Given the description of an element on the screen output the (x, y) to click on. 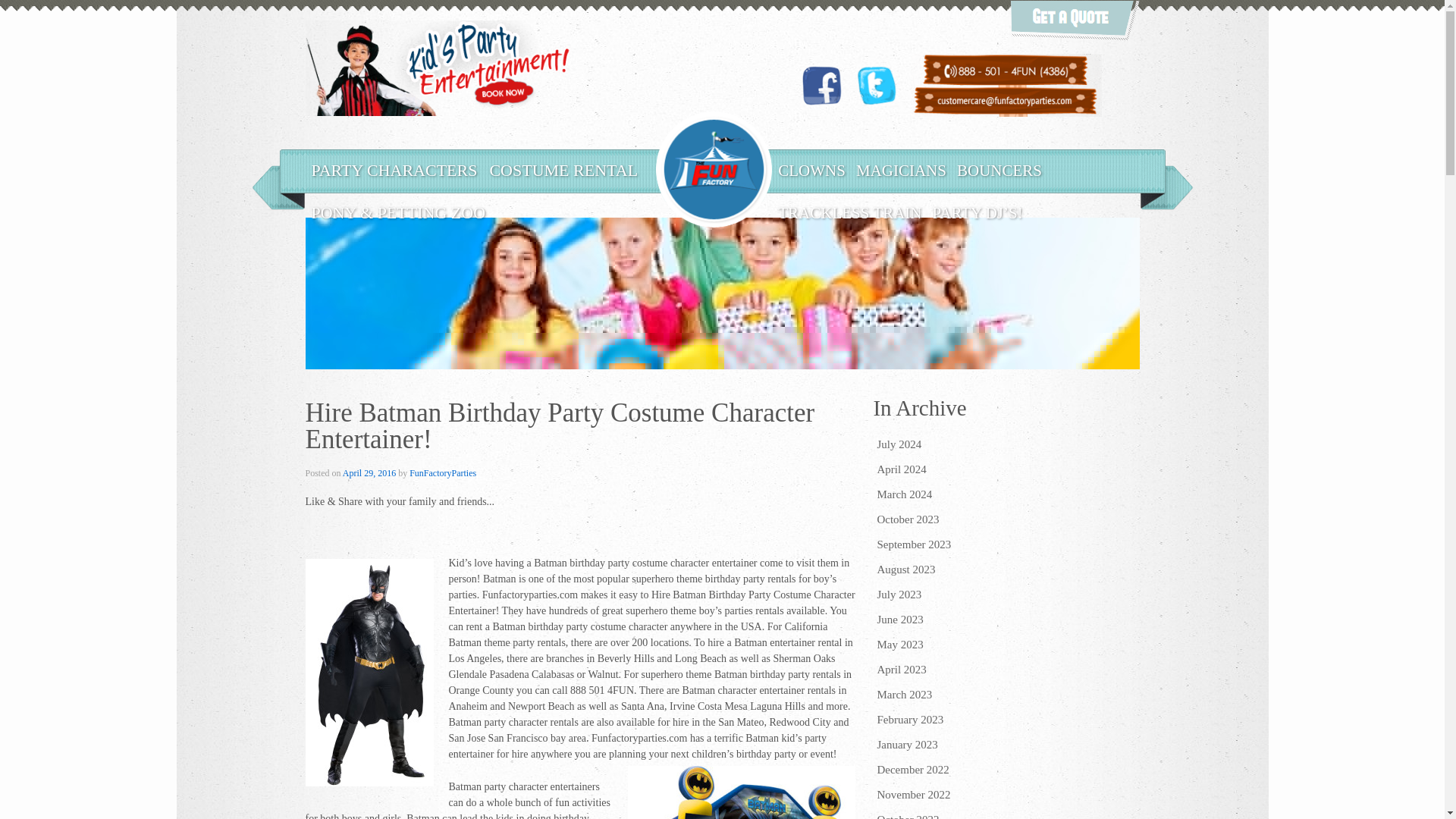
COSTUME RENTAL (563, 170)
CLOWNS (811, 170)
FunFactoryParties (442, 472)
TRACKLESS TRAIN (849, 212)
MAGICIANS (901, 170)
View all posts by FunFactoryParties (442, 472)
Hire Batman Birthday Party Costume Character Entertainer! (369, 472)
BOUNCERS (999, 170)
April 29, 2016 (369, 472)
PARTY CHARACTERS (393, 170)
